Given the description of an element on the screen output the (x, y) to click on. 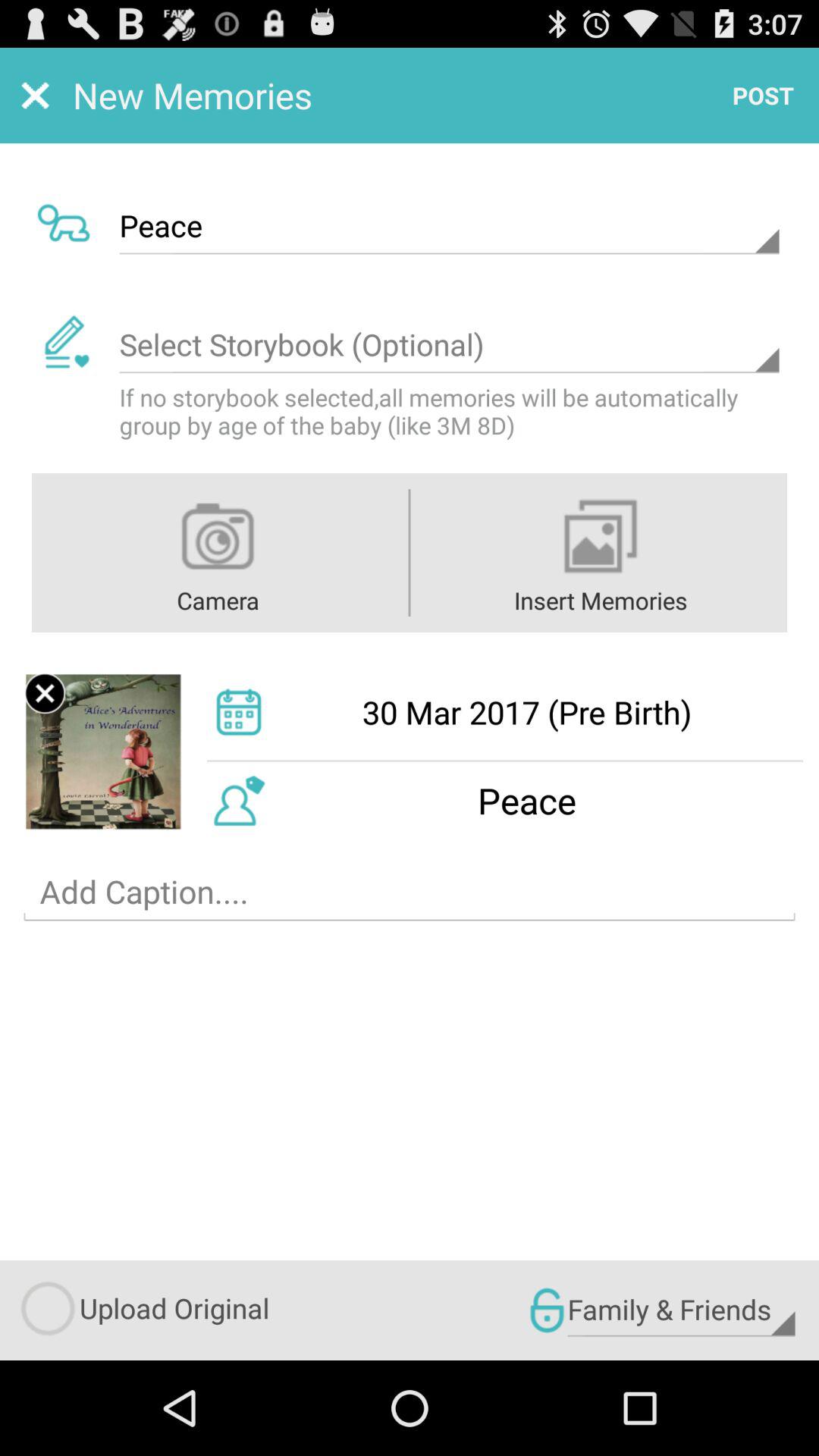
select storybook optional (449, 345)
